Given the description of an element on the screen output the (x, y) to click on. 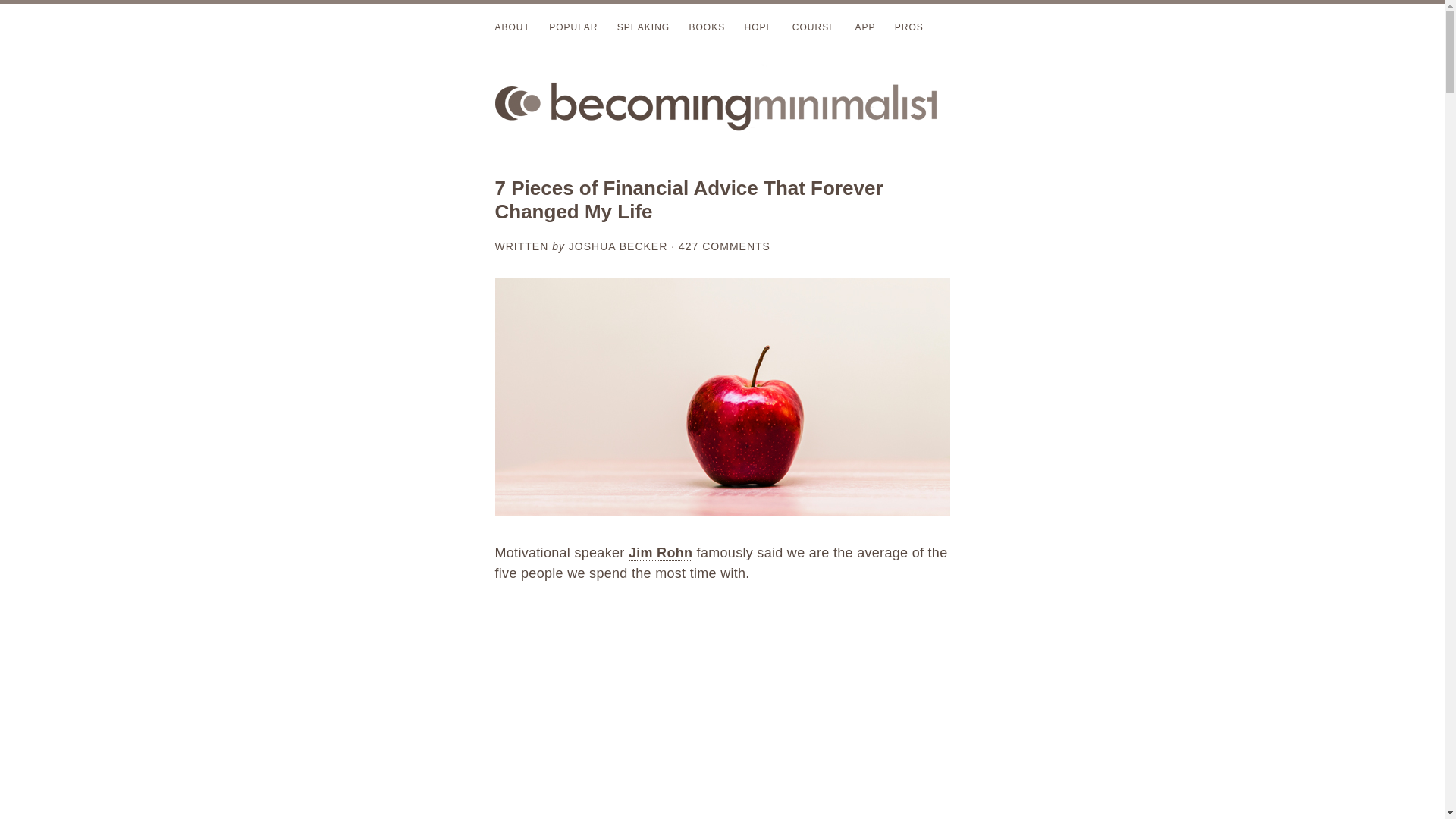
COURSE (813, 27)
SPEAKING (643, 27)
POPULAR (572, 27)
Jim Rohn (660, 553)
427 COMMENTS (724, 246)
Becoming Minimalist (722, 104)
PROS (909, 27)
ABOUT (512, 27)
BOOKS (706, 27)
APP (864, 27)
HOPE (758, 27)
